Given the description of an element on the screen output the (x, y) to click on. 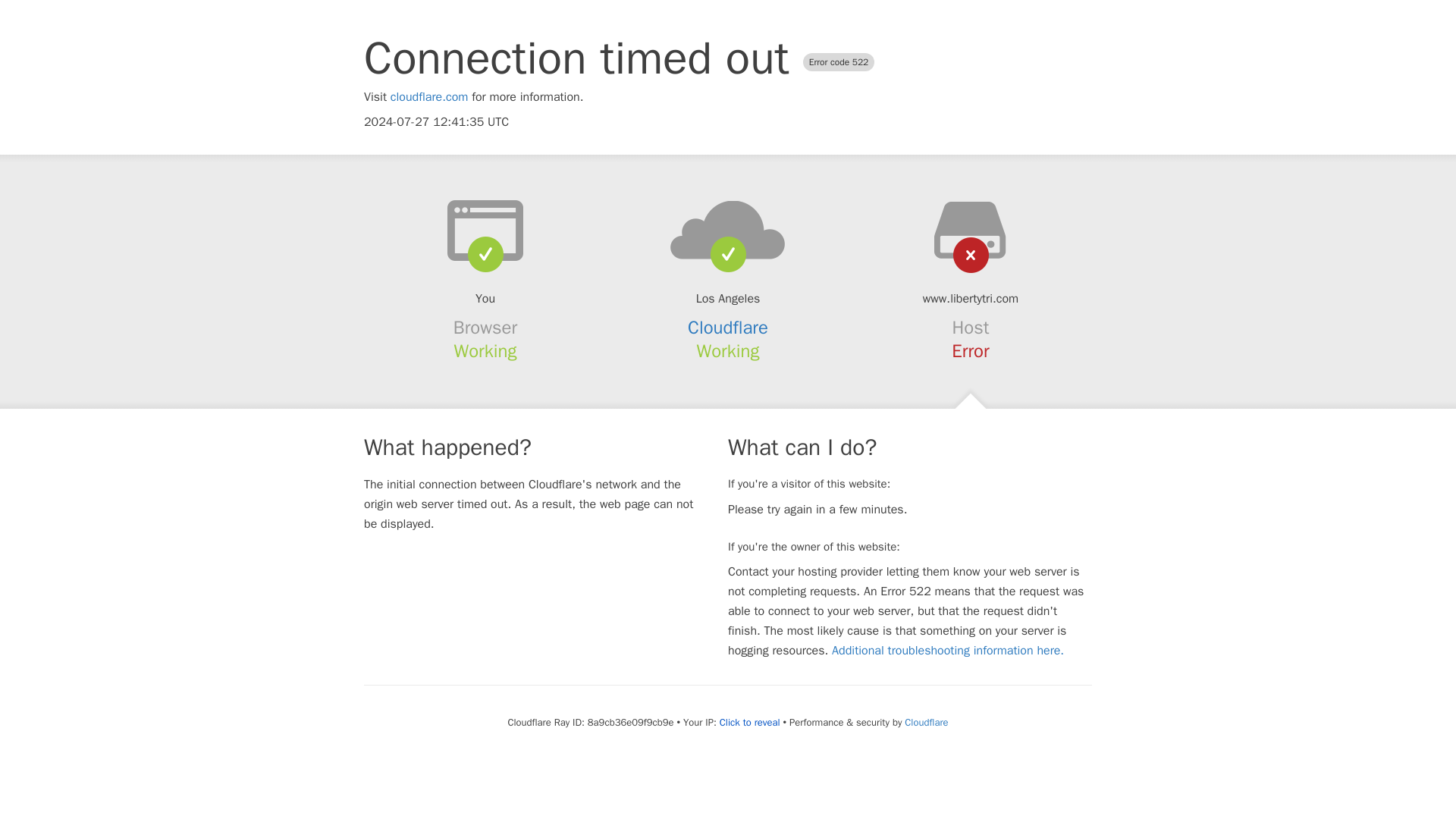
Click to reveal (749, 722)
Cloudflare (925, 721)
Additional troubleshooting information here. (947, 650)
cloudflare.com (429, 96)
Cloudflare (727, 327)
